Given the description of an element on the screen output the (x, y) to click on. 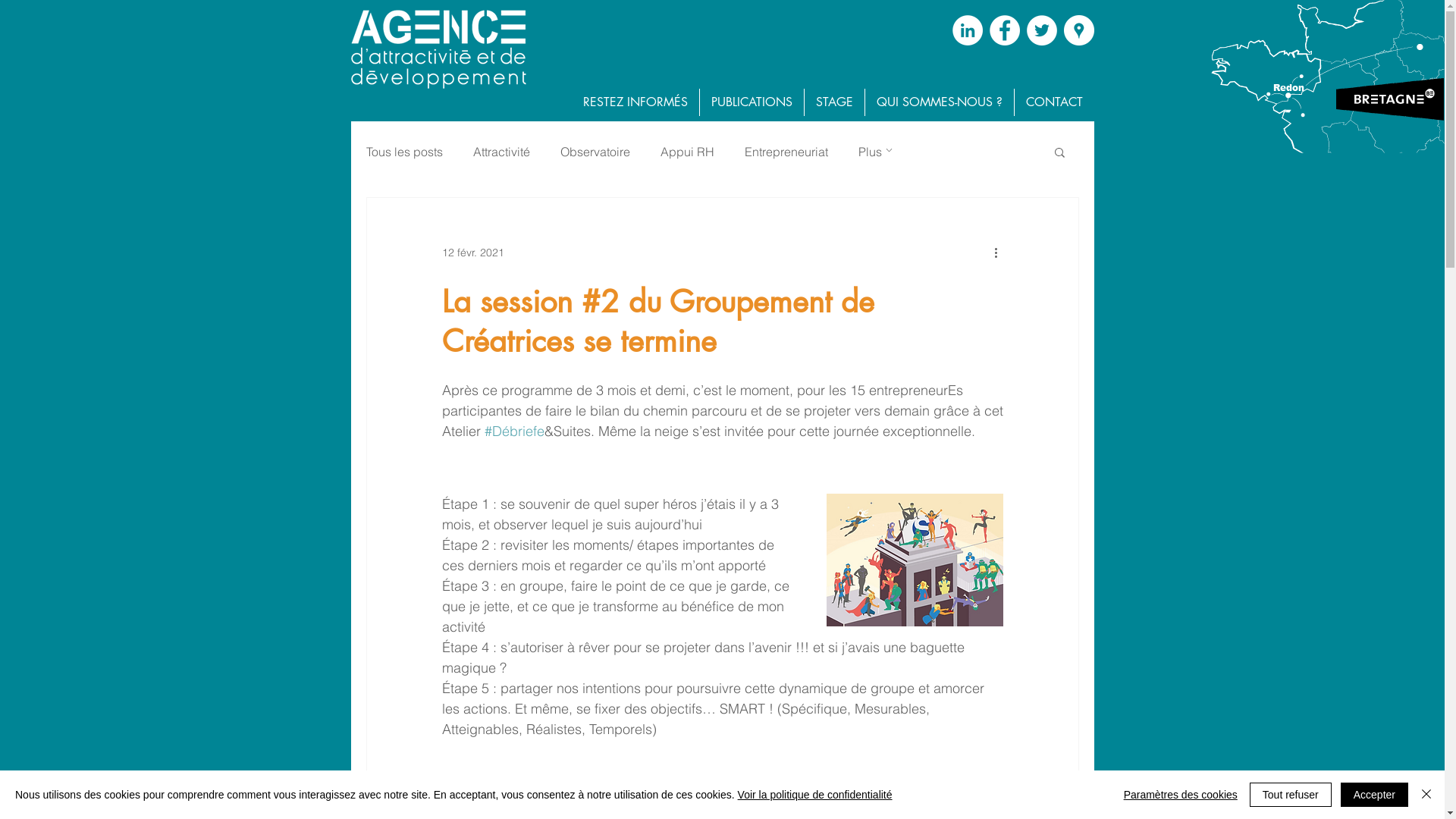
CONTACT Element type: text (1054, 102)
Observatoire Element type: text (594, 151)
Tous les posts Element type: text (403, 151)
STAGE Element type: text (833, 102)
Tout refuser Element type: text (1290, 794)
Accepter Element type: text (1374, 794)
Appui RH Element type: text (686, 151)
PUBLICATIONS Element type: text (751, 102)
Bouton Element type: text (1222, 65)
Entrepreneuriat Element type: text (786, 151)
QUI SOMMES-NOUS ? Element type: text (938, 102)
